Given the description of an element on the screen output the (x, y) to click on. 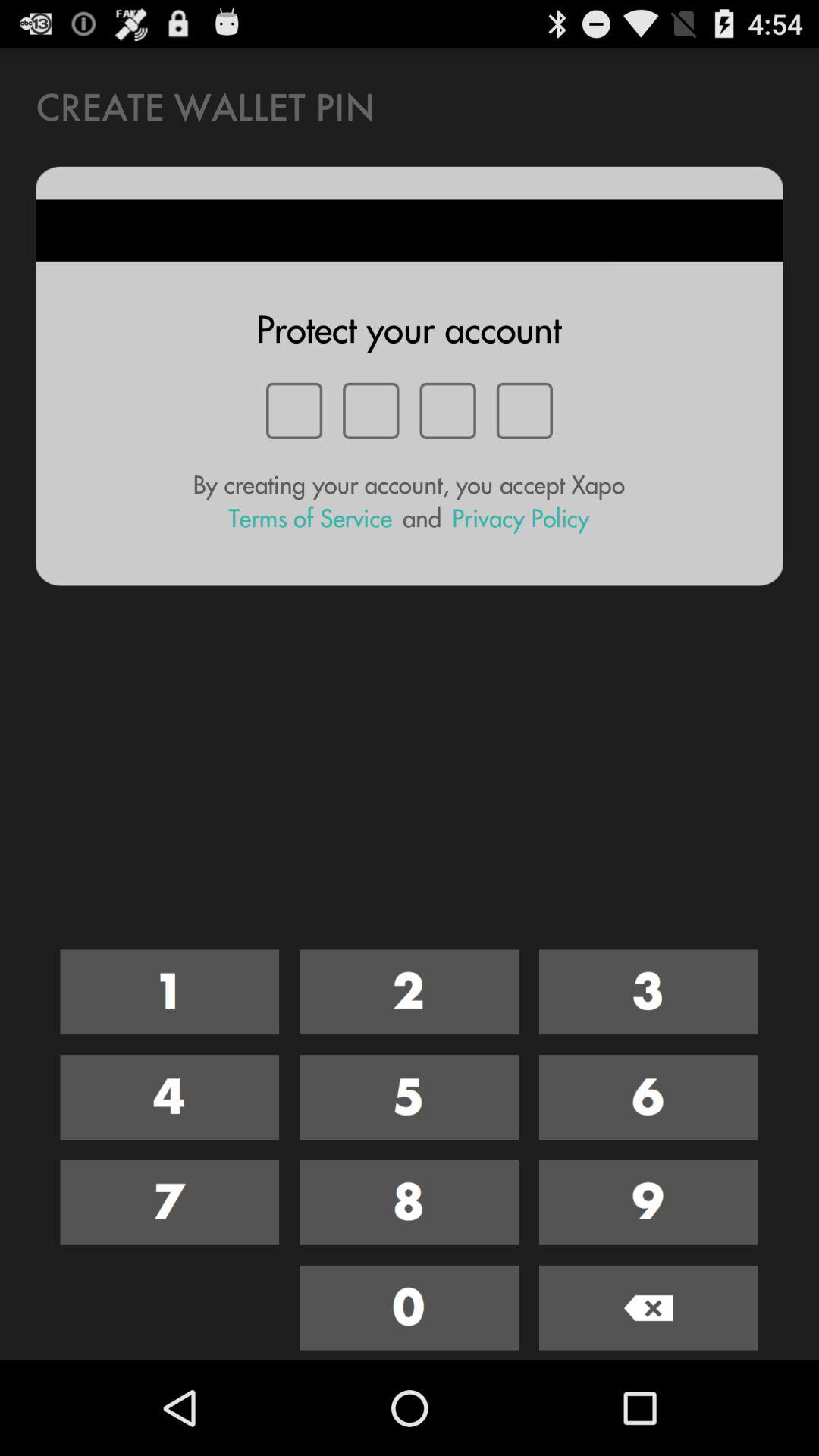
enter 3 as digit (648, 991)
